Given the description of an element on the screen output the (x, y) to click on. 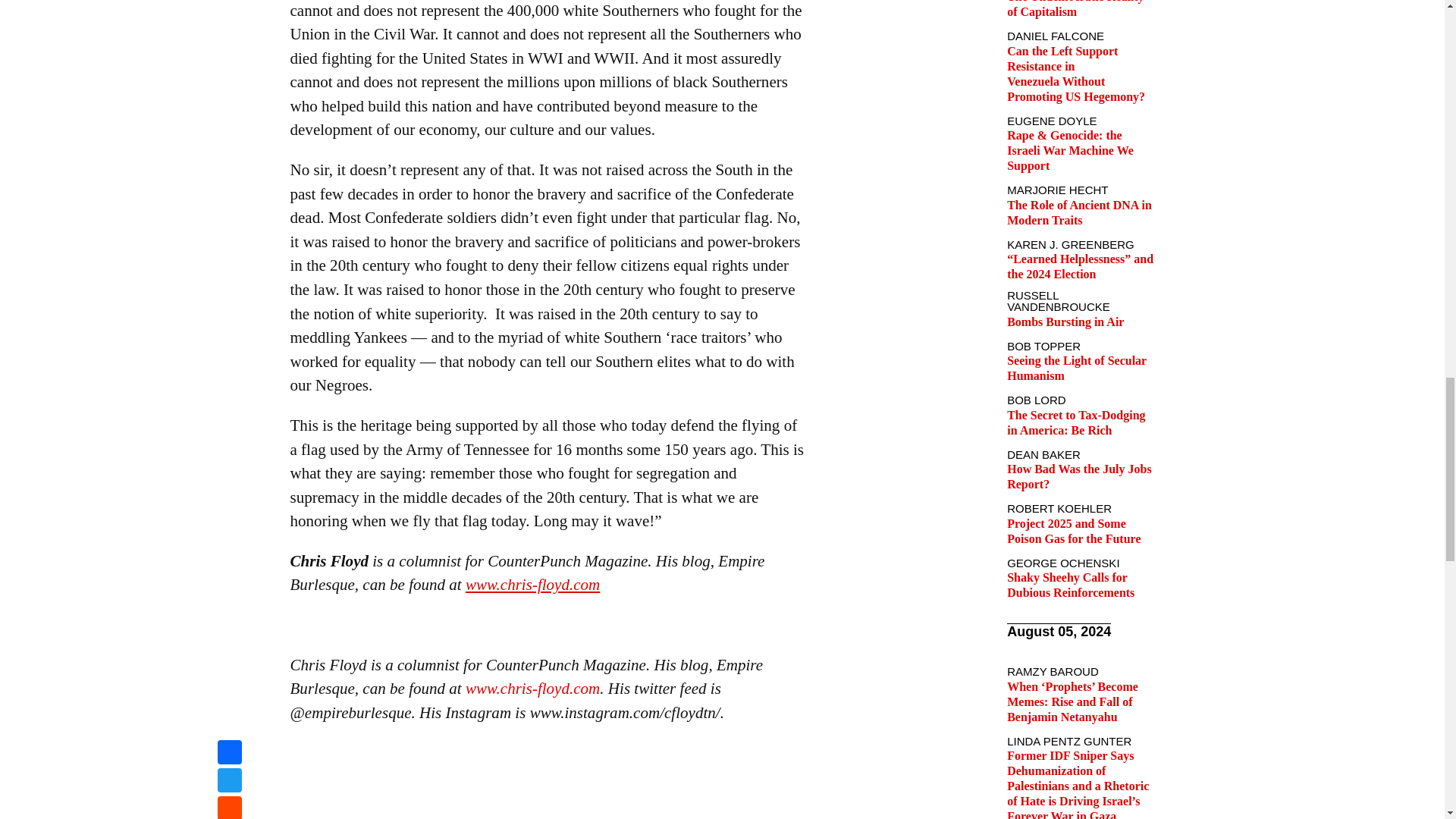
www.chris-floyd.com (532, 584)
www.chris-floyd.com (532, 688)
